Given the description of an element on the screen output the (x, y) to click on. 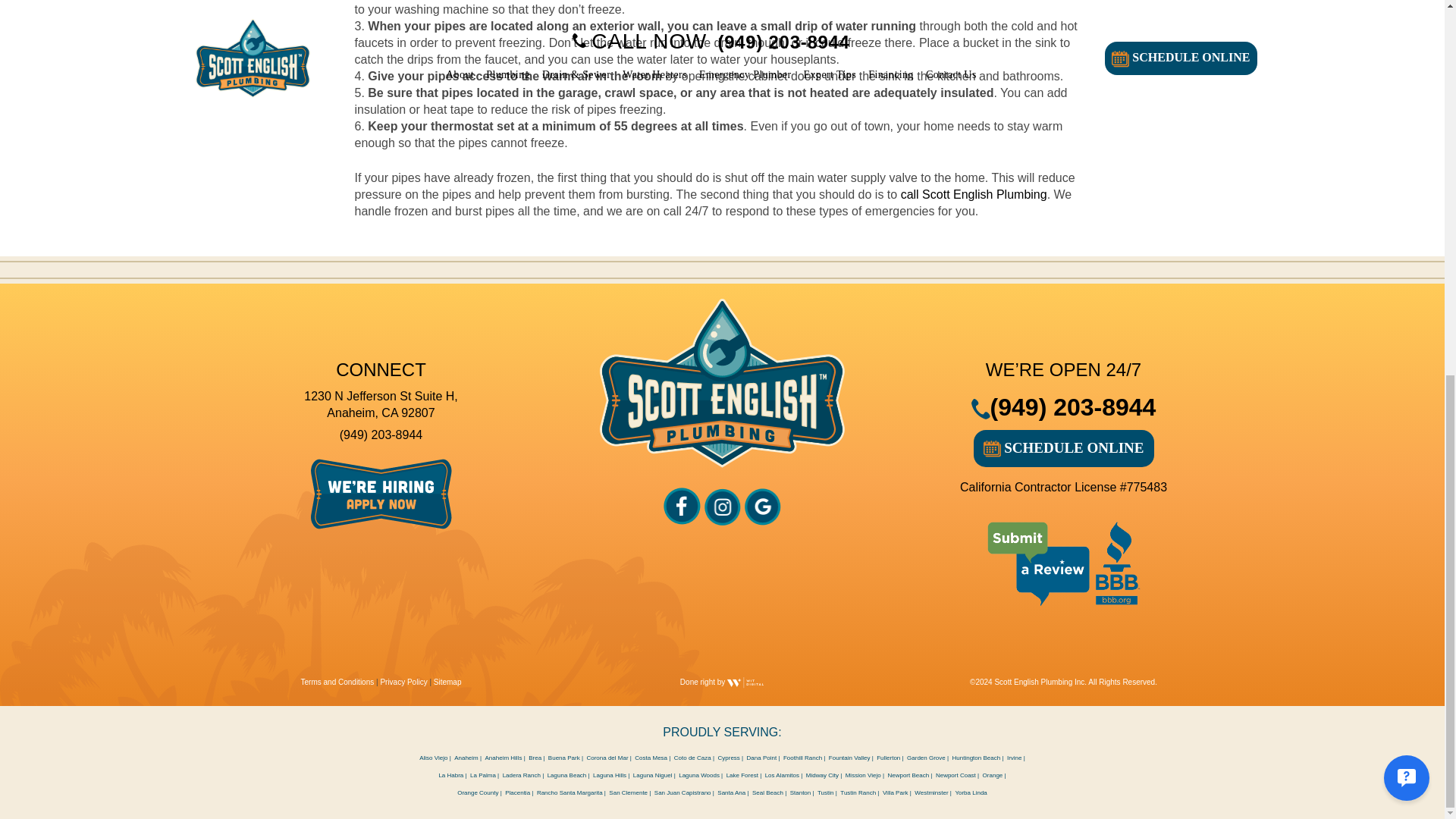
Plumber in Fullerton (887, 757)
Plumber in Costa Mesa (650, 757)
Plumber in Coto de Caza (692, 757)
Plumber in Aliso Viejo (432, 757)
Plumber in Anaheim (466, 757)
Plumber in Fountain Valley (849, 757)
Plumber in Brea (534, 757)
Plumber in Foothill Ranch (802, 757)
Plumber in Dana Point (761, 757)
Plumber in Buena Park (563, 757)
Plumber in Cypress (728, 757)
Plumber in Anaheim Hills (503, 757)
Plumber in Corona del Mar (606, 757)
